Given the description of an element on the screen output the (x, y) to click on. 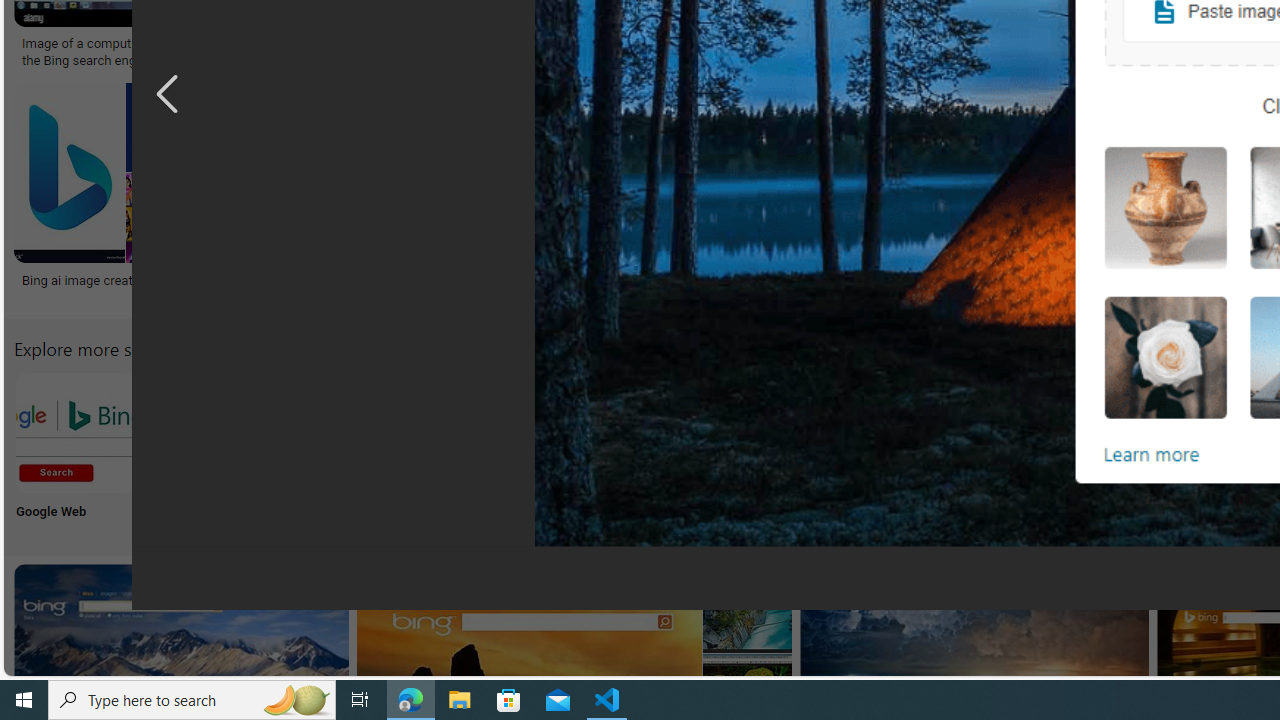
Download Bing Pictures | Wallpapers.com (1046, 44)
FIX: Downloading proxy script message on Google Chrome (927, 287)
Bing Clip ART SEARCH (867, 432)
Download Bing Pictures | Wallpapers.com (1075, 44)
Google Web Search Bing (75, 432)
Bing Search App Logo (207, 432)
Results (1131, 450)
Bing Photo Search Microsoft Edge (472, 432)
Internet Explorer Bing Search (339, 432)
Google Web Search Bing Google Web (75, 450)
Image result for Bing Search Site (747, 608)
FIX: Downloading proxy script message on Google Chrome (927, 287)
